Given the description of an element on the screen output the (x, y) to click on. 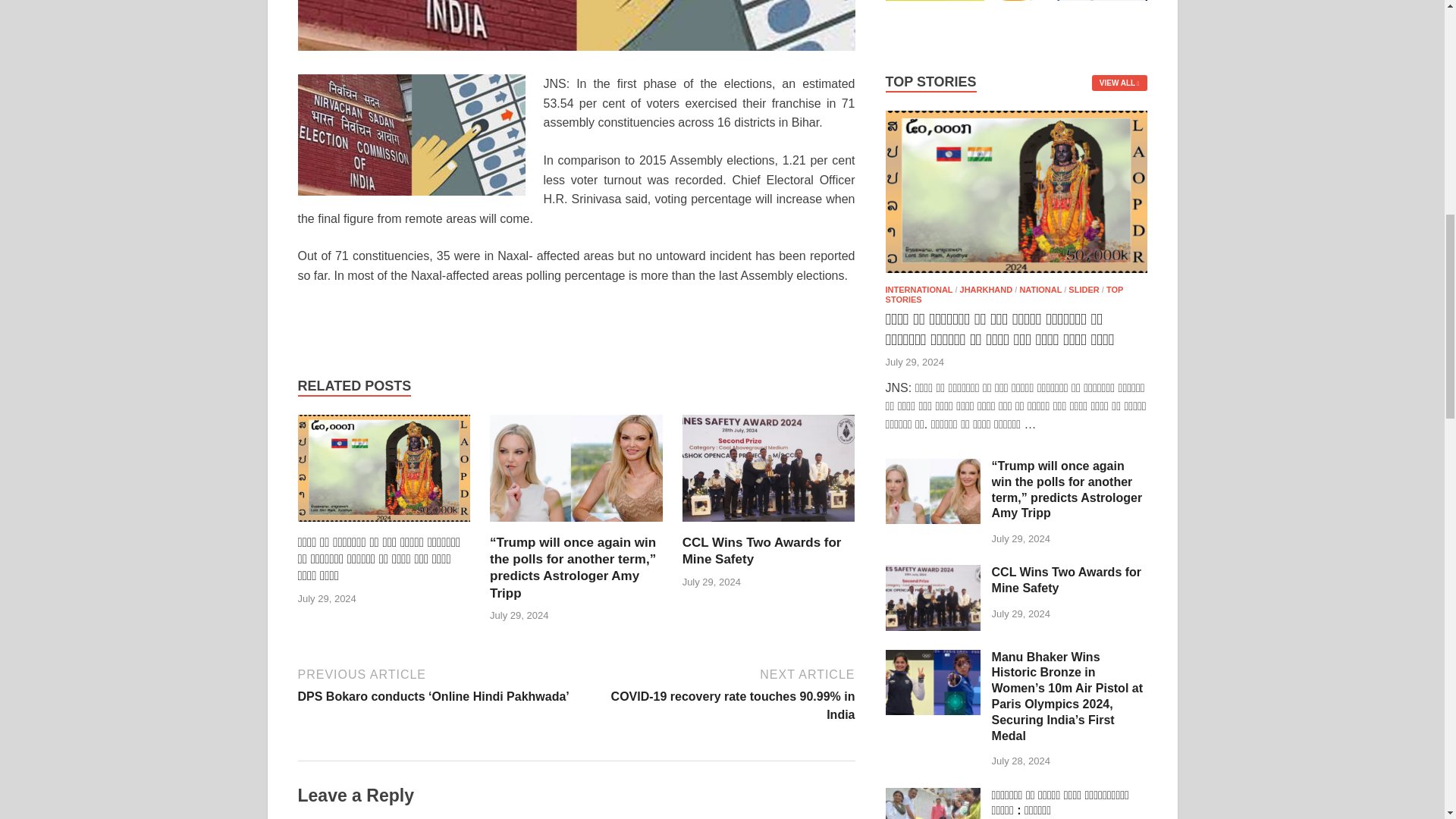
CCL Wins Two Awards for Mine Safety (769, 473)
CCL Wins Two Awards for Mine Safety (761, 550)
CCL Wins Two Awards for Mine Safety (761, 550)
